Given the description of an element on the screen output the (x, y) to click on. 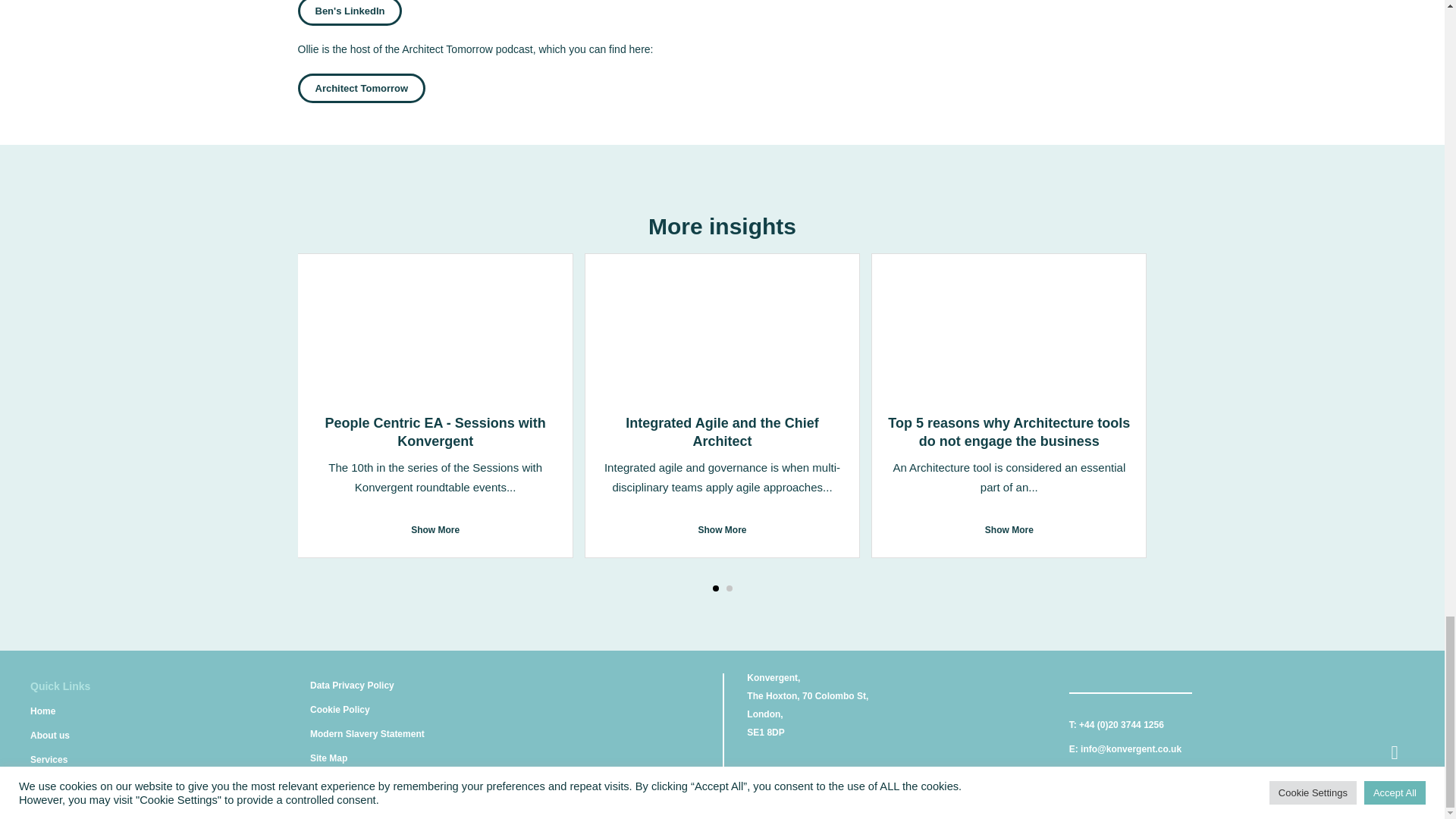
Show More (722, 529)
Show More (435, 529)
Ben's LinkedIn (349, 12)
Architect Tomorrow (361, 88)
